Given the description of an element on the screen output the (x, y) to click on. 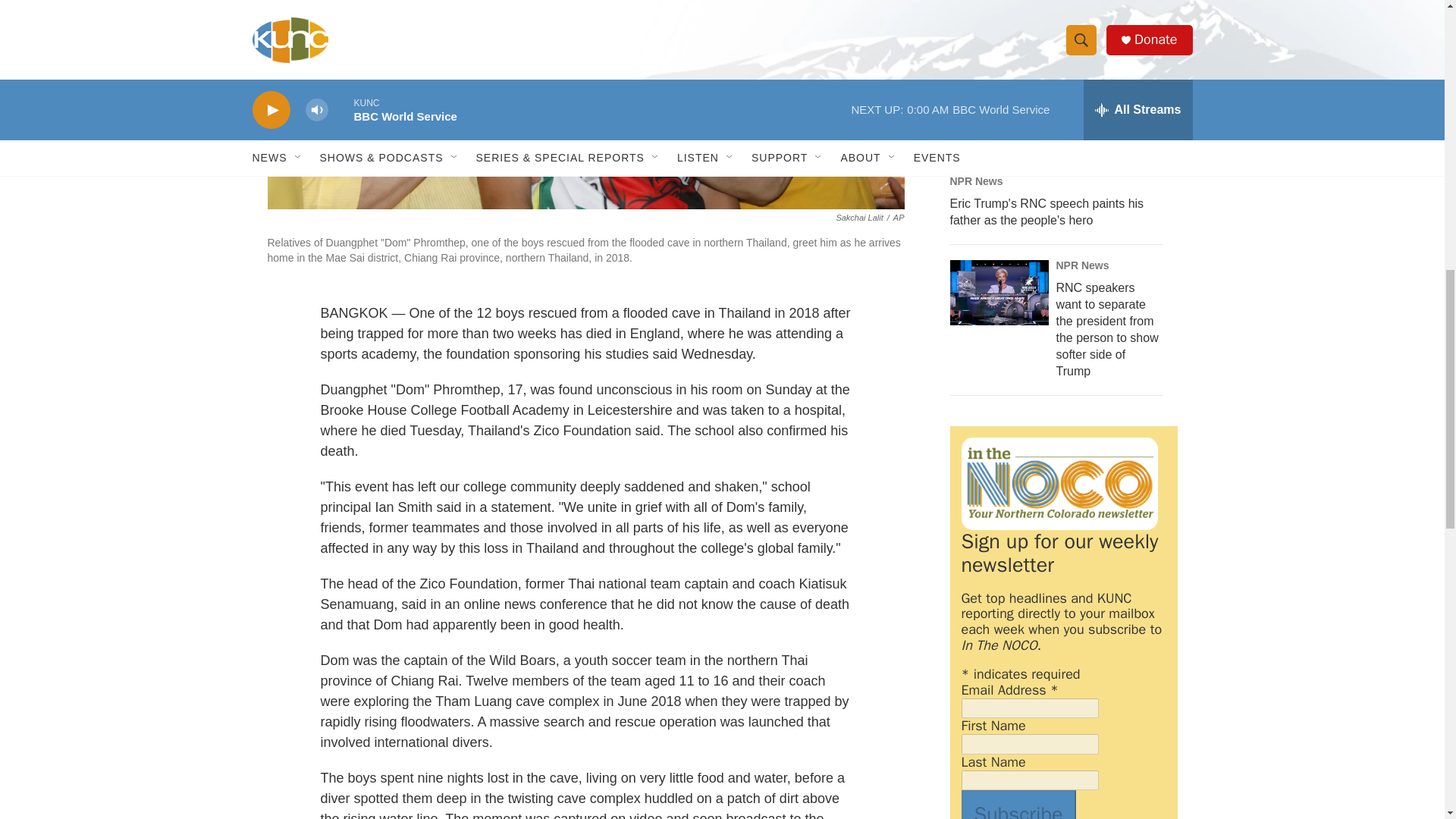
Subscribe (1017, 804)
